Given the description of an element on the screen output the (x, y) to click on. 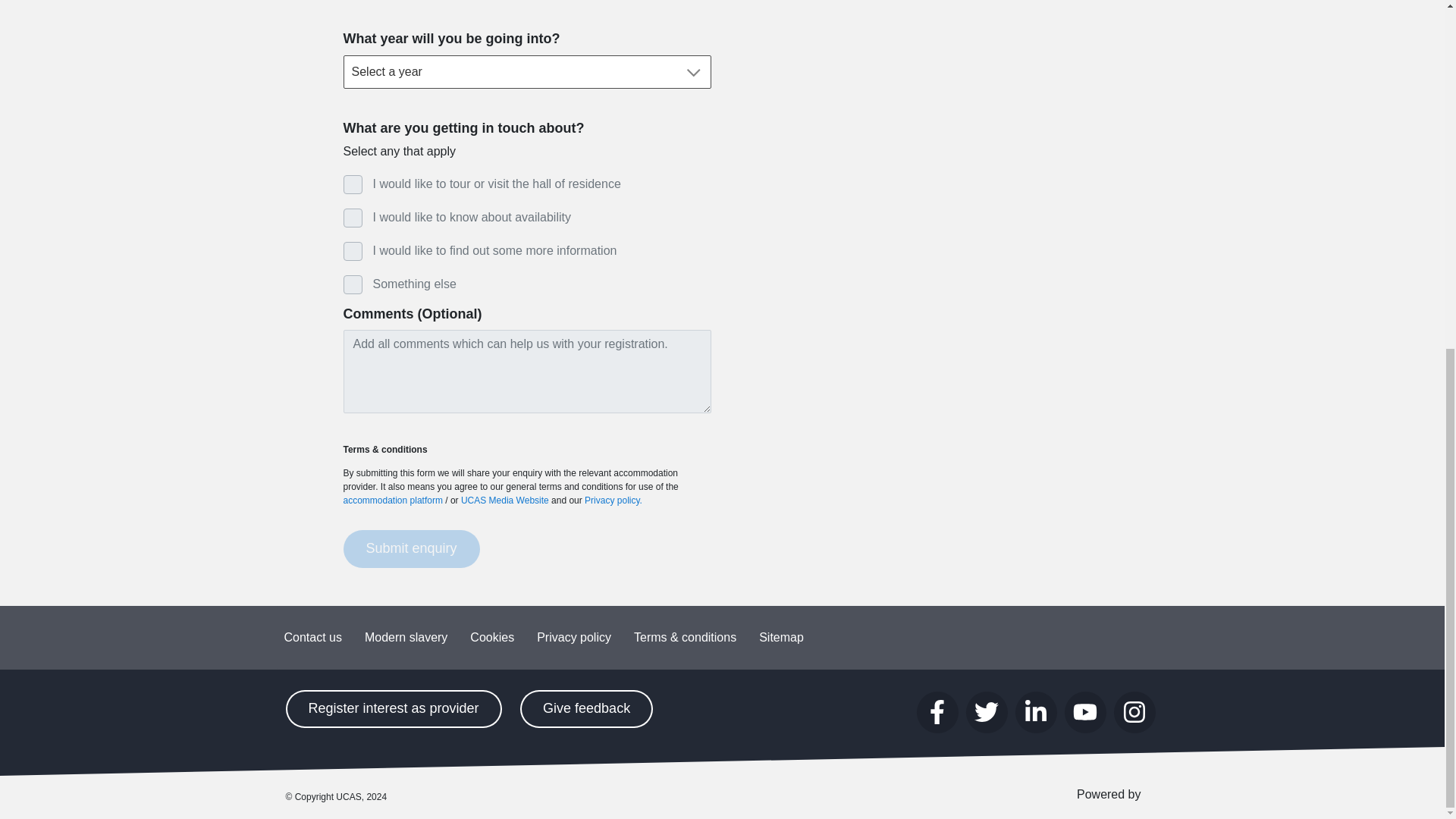
Contact us (313, 637)
Privacy policy (574, 637)
UCAS Media Website (504, 500)
Sitemap (781, 637)
Submit enquiry (410, 548)
Give feedback (585, 709)
Cookies (491, 637)
Modern slavery (405, 637)
Register interest as provider (392, 709)
accommodation platform (392, 500)
Privacy policy. (613, 500)
